Given the description of an element on the screen output the (x, y) to click on. 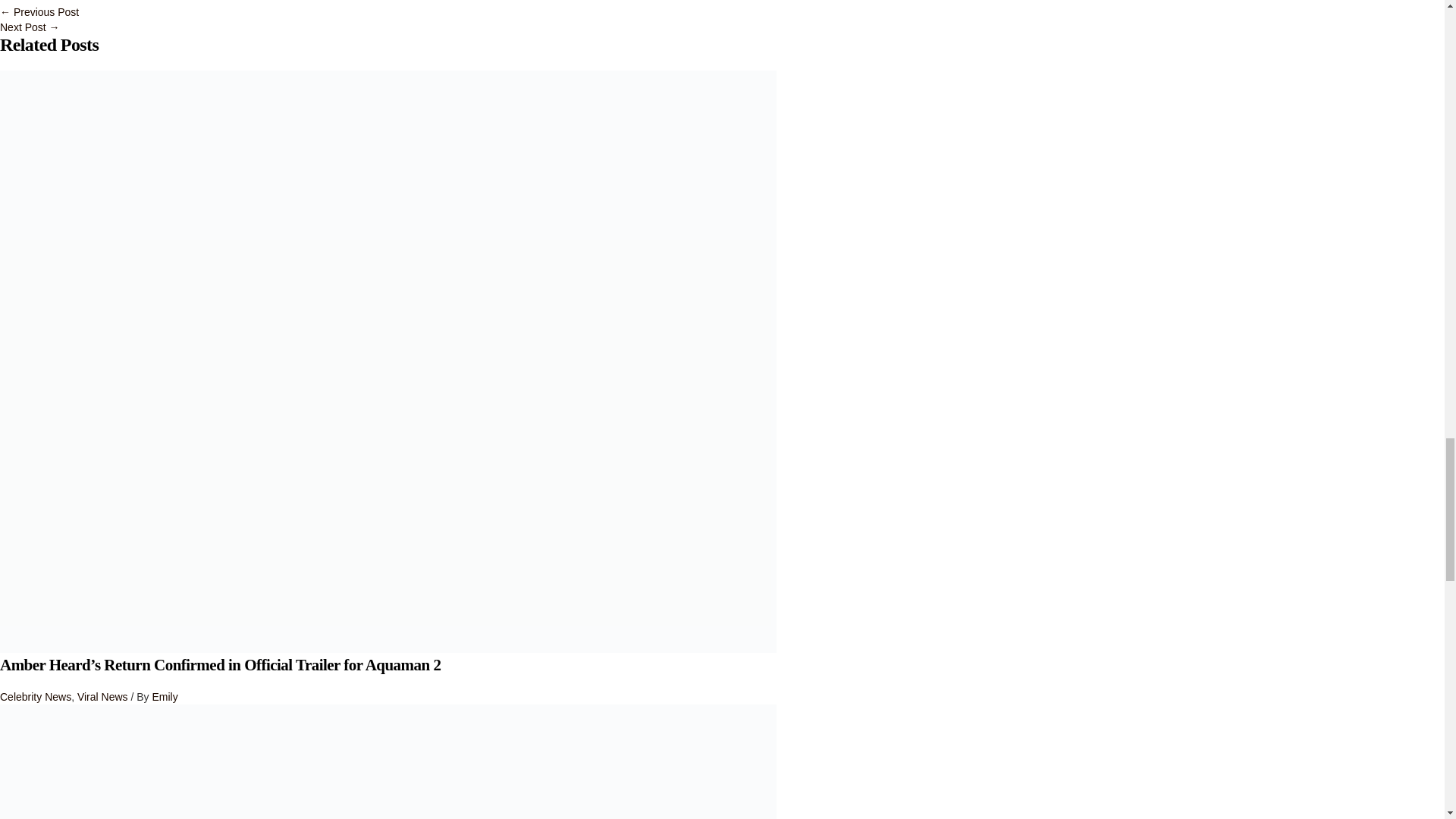
Viral News (102, 696)
Celebrity News (35, 696)
Emily (164, 696)
View all posts by Emily (164, 696)
